Given the description of an element on the screen output the (x, y) to click on. 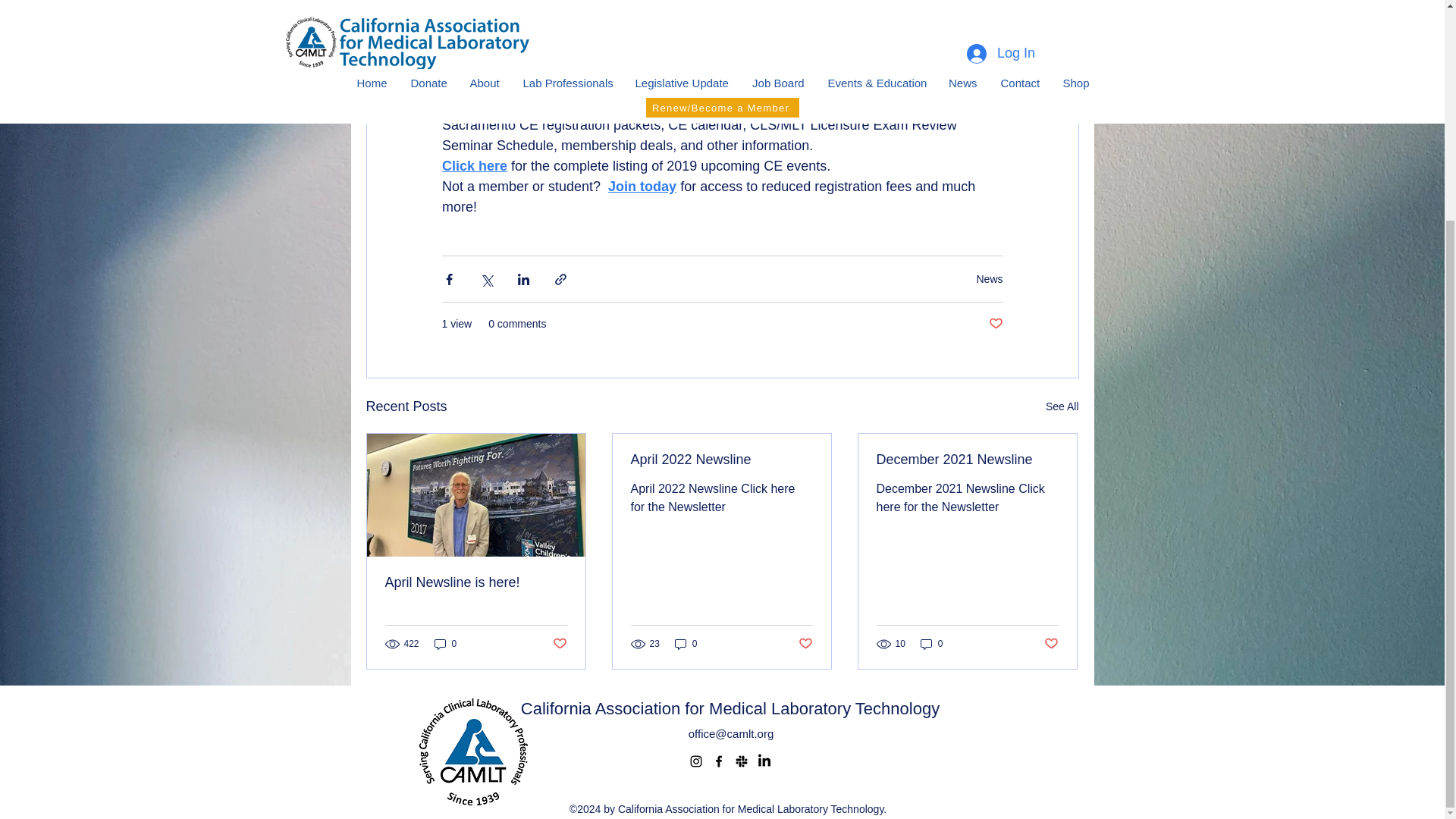
Join today (642, 186)
Click here (473, 165)
Download Newsletter Here. (714, 73)
